Given the description of an element on the screen output the (x, y) to click on. 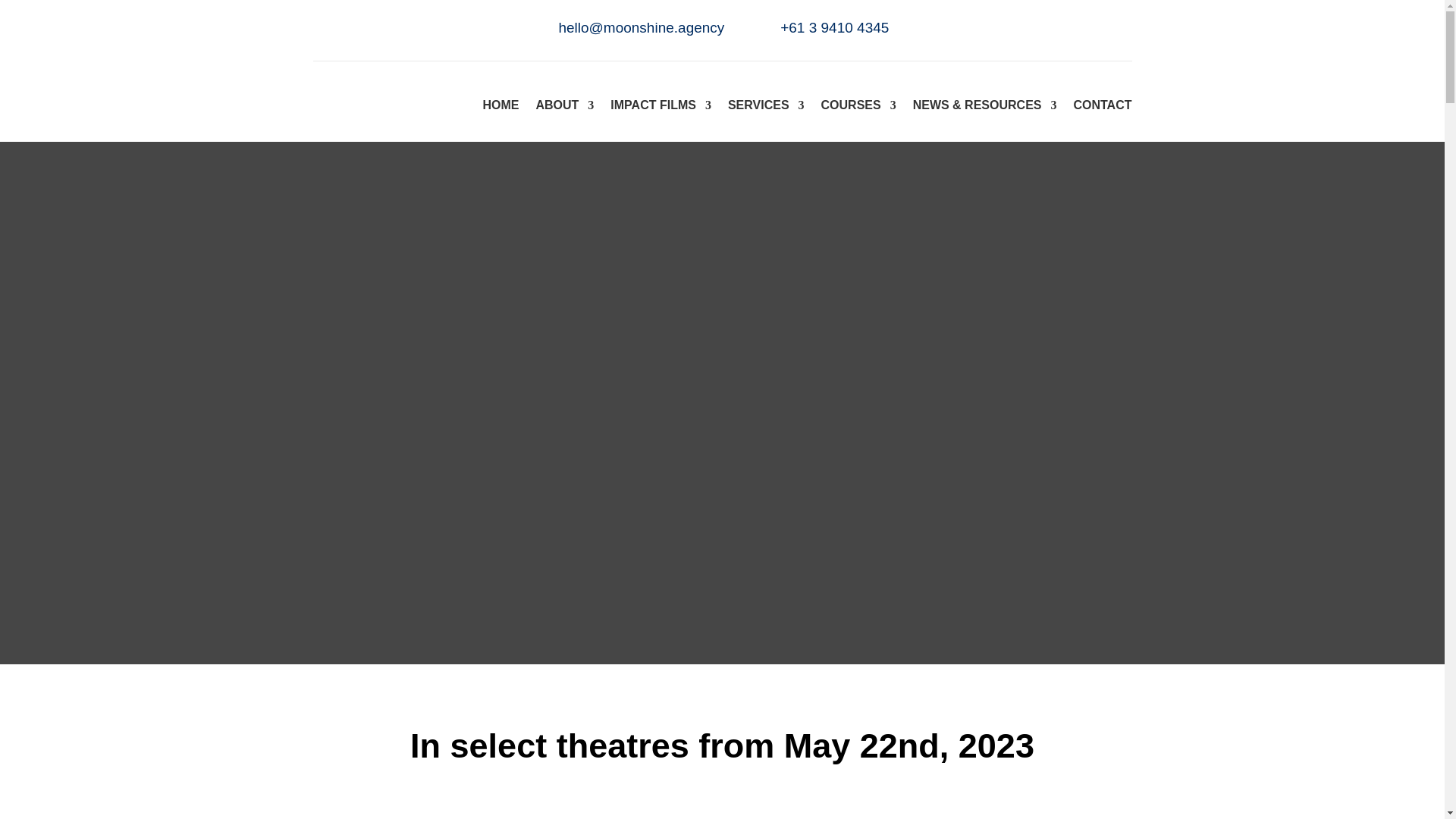
IMPACT FILMS (660, 105)
SERVICES (766, 105)
ABOUT (564, 105)
COURSES (858, 105)
CONTACT (1102, 105)
